Given the description of an element on the screen output the (x, y) to click on. 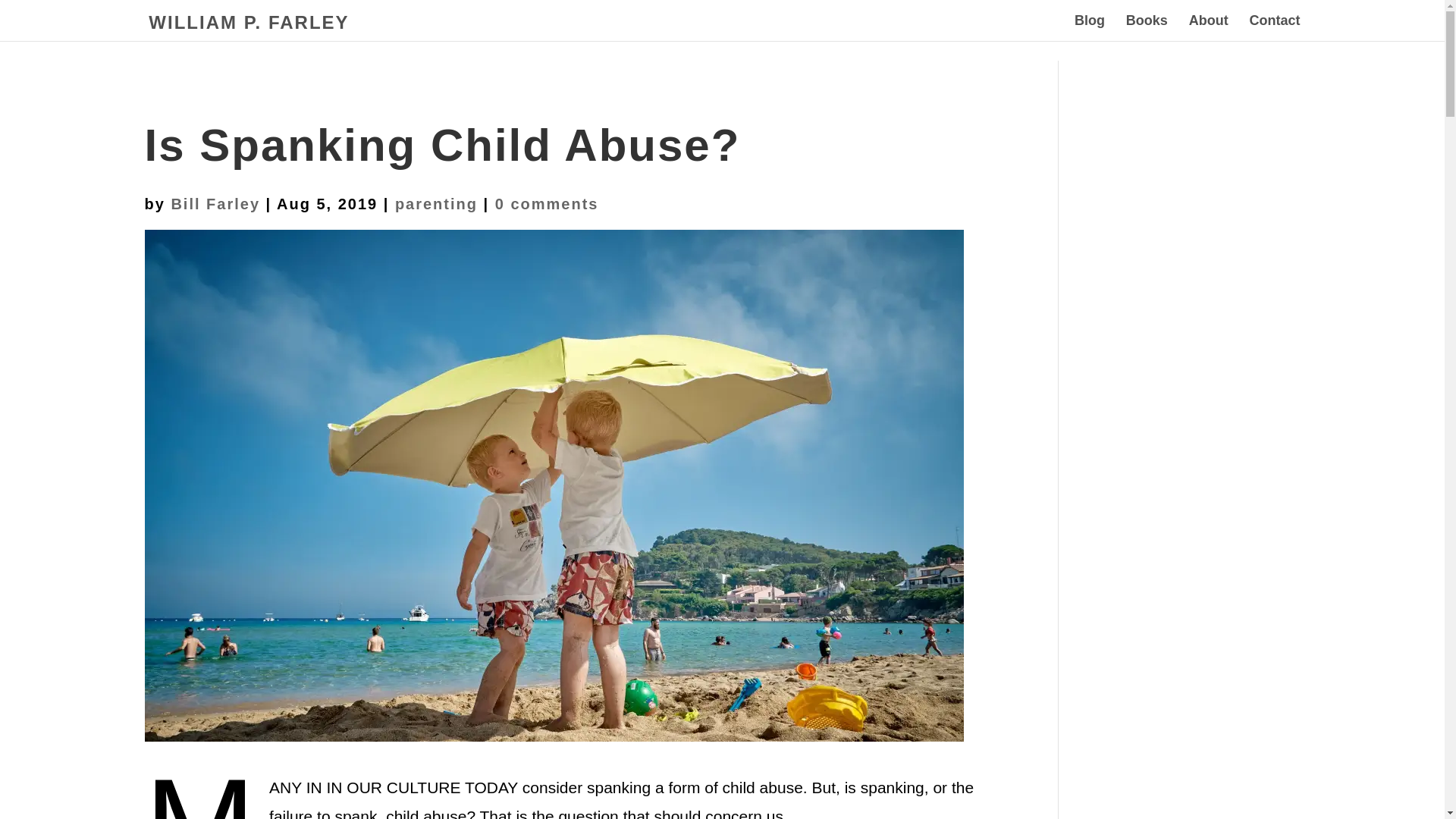
0 comments (546, 203)
WILLIAM P. FARLEY (248, 22)
Contact (1274, 27)
Books (1146, 27)
parenting (435, 203)
About (1208, 27)
Bill Farley (215, 203)
Posts by Bill Farley (215, 203)
Blog (1089, 27)
